Given the description of an element on the screen output the (x, y) to click on. 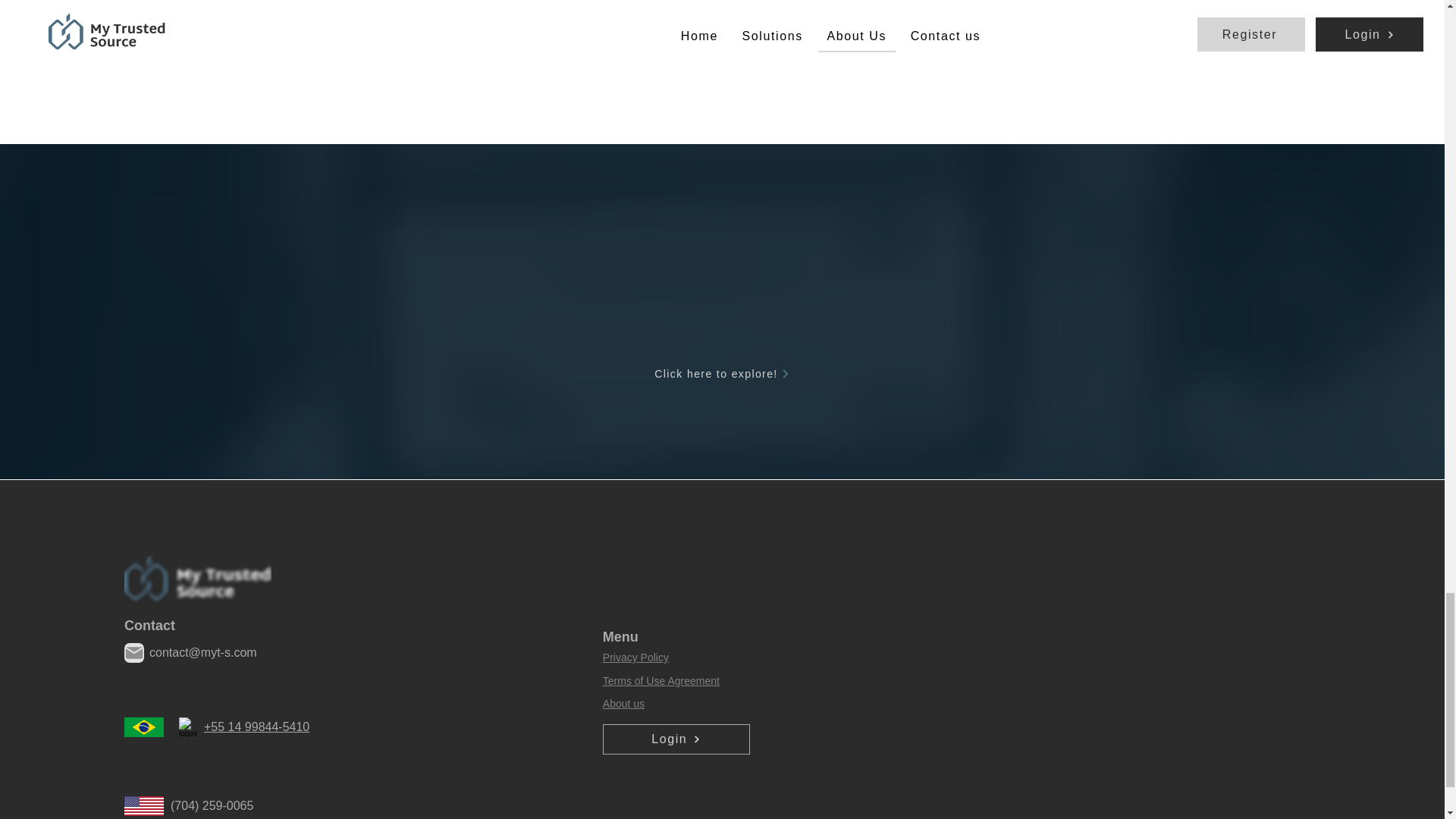
Login (675, 738)
Click here to explore! (722, 373)
Terms of Use Agreement (660, 680)
image.png (196, 582)
Privacy Policy (635, 657)
About us (623, 703)
